Given the description of an element on the screen output the (x, y) to click on. 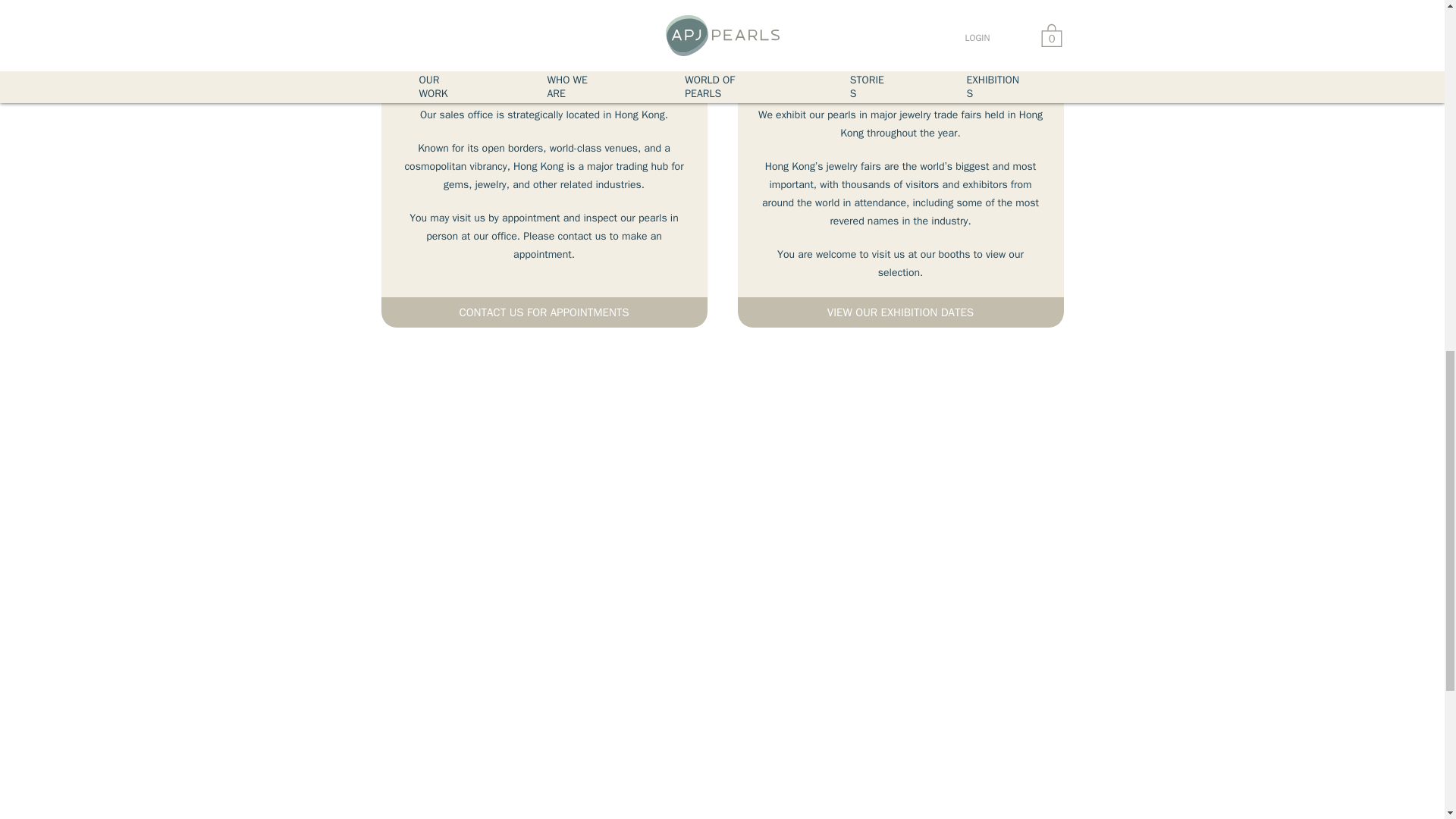
CONTACT US FOR APPOINTMENTS (543, 312)
VIEW OUR EXHIBITION DATES (899, 312)
